Given the description of an element on the screen output the (x, y) to click on. 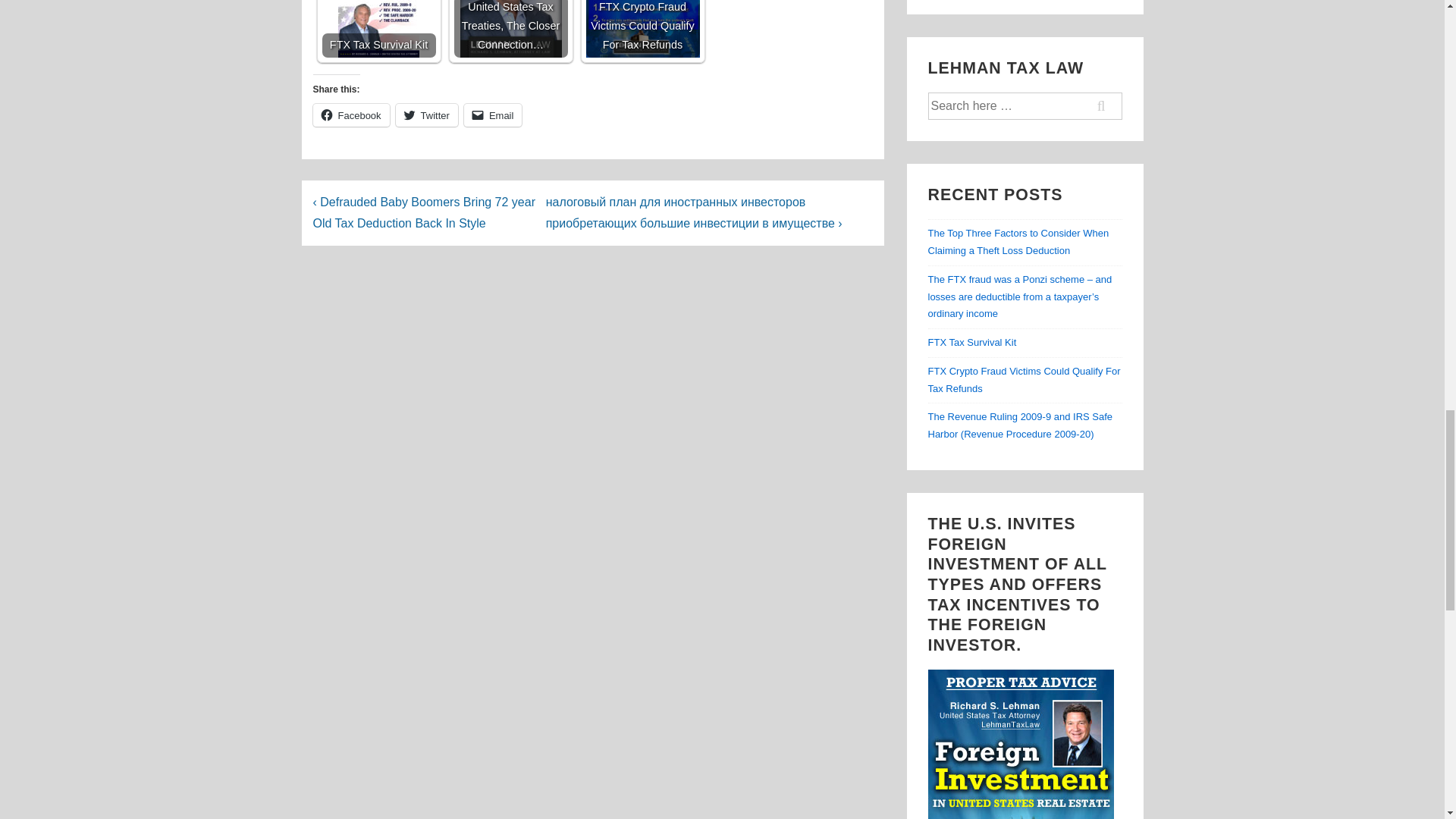
Facebook (350, 115)
Twitter (427, 115)
FTX Crypto Fraud Victims Could Qualify For Tax Refunds (641, 28)
FTX Crypto Fraud Victims Could Qualify For Tax Refunds (641, 28)
FTX Tax Survival Kit (378, 28)
Email (493, 115)
Click to share on Facebook (350, 115)
FTX Tax Survival Kit (378, 28)
Click to share on Twitter (427, 115)
Click to email a link to a friend (493, 115)
